Given the description of an element on the screen output the (x, y) to click on. 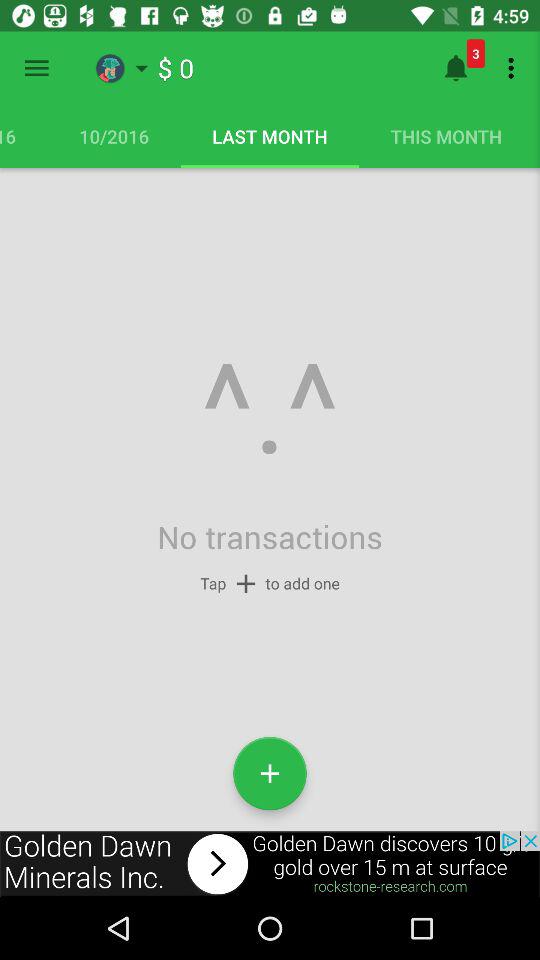
click on the bell notification option (455, 67)
select the wishlist option on the top of the page (141, 67)
